Given the description of an element on the screen output the (x, y) to click on. 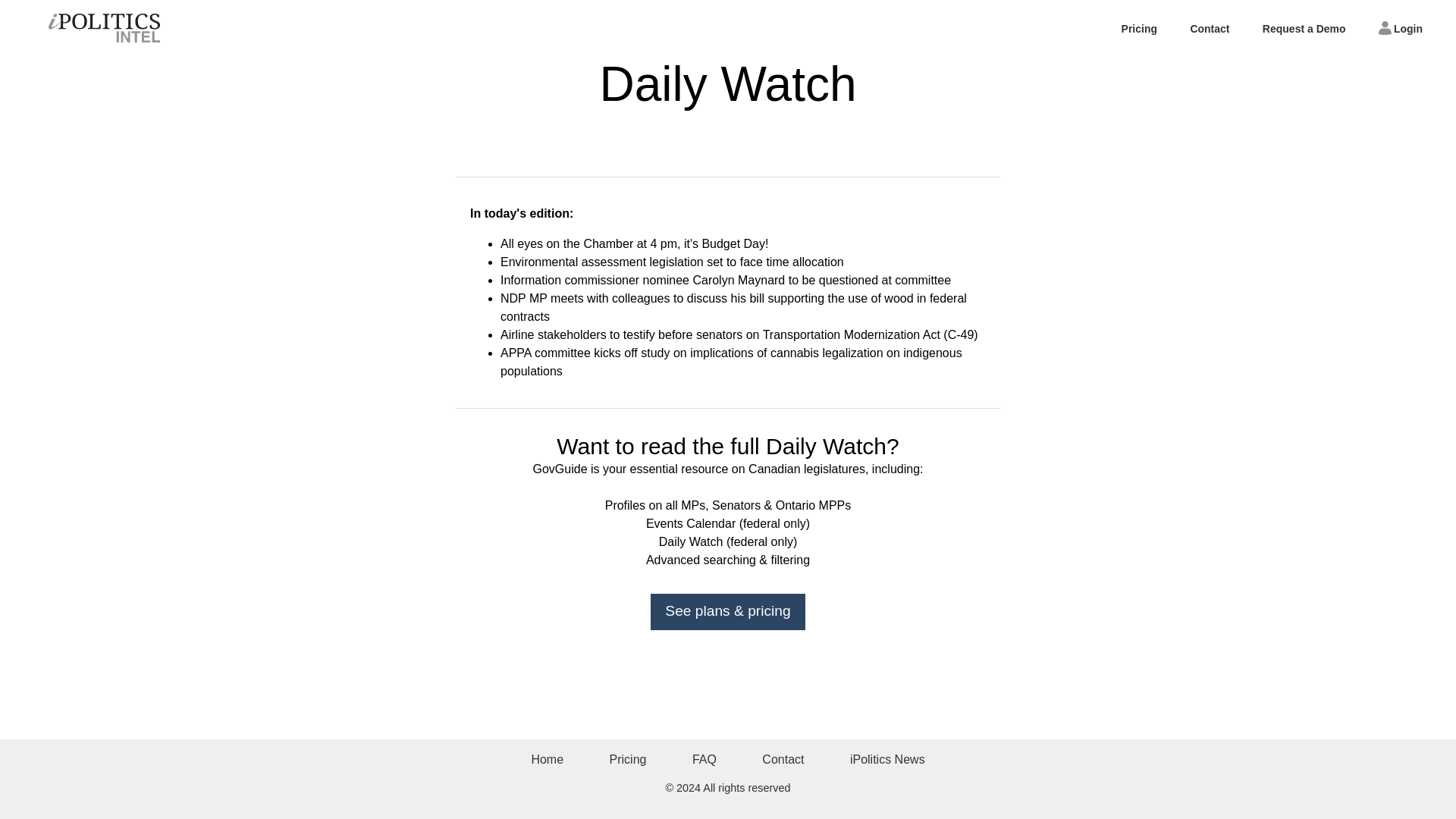
Contact (1208, 28)
Pricing (1139, 28)
iPolitics News (887, 758)
Contact (782, 758)
Login (1400, 28)
Home (546, 758)
Request a Demo (1303, 28)
Pricing (628, 758)
Login (1400, 28)
FAQ (704, 758)
